Given the description of an element on the screen output the (x, y) to click on. 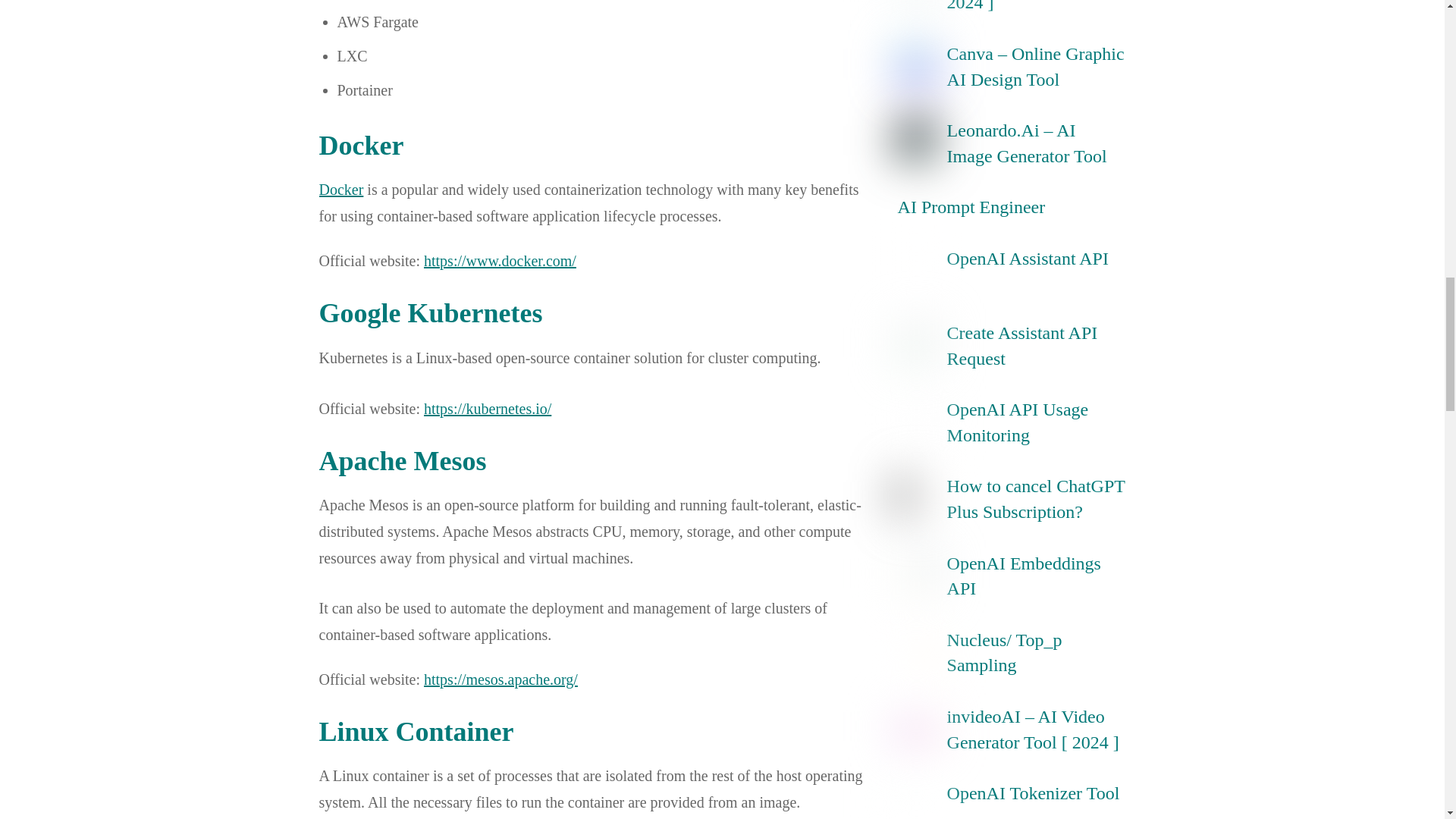
Docker (340, 189)
